Given the description of an element on the screen output the (x, y) to click on. 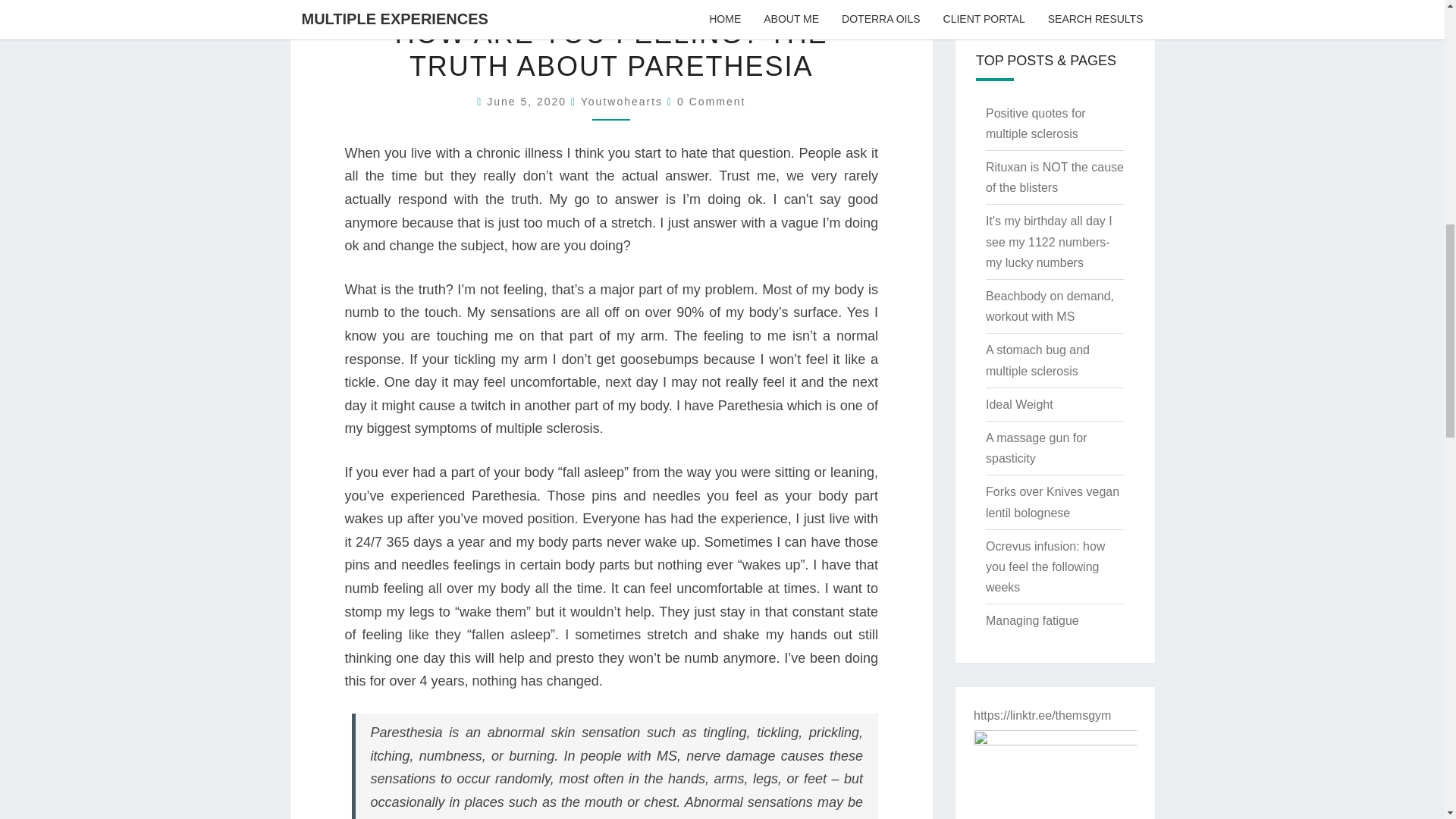
10:48 am (528, 101)
0 Comment (711, 101)
June 5, 2020 (528, 101)
Youtwohearts (621, 101)
View all posts by Youtwohearts (621, 101)
